Given the description of an element on the screen output the (x, y) to click on. 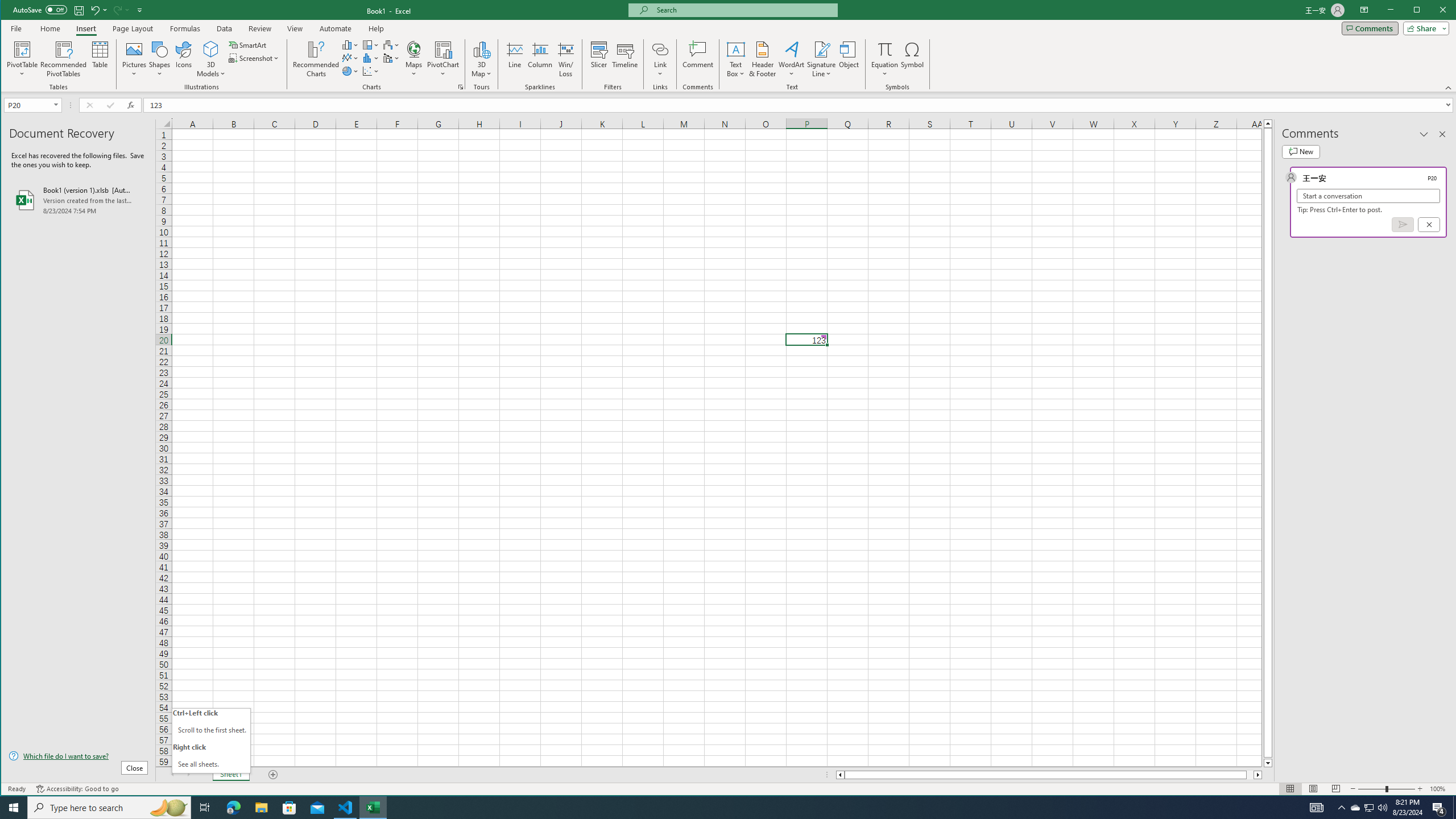
Comment (697, 59)
Collapse the Ribbon (1448, 87)
Signature Line (821, 59)
More Options (884, 69)
Running applications (717, 807)
Zoom In (1420, 788)
Ribbon Display Options (1364, 9)
Excel - 1 running window (373, 807)
Formulas (184, 28)
Data (224, 28)
Post comment (Ctrl + Enter) (1402, 224)
Task View (204, 807)
